Given the description of an element on the screen output the (x, y) to click on. 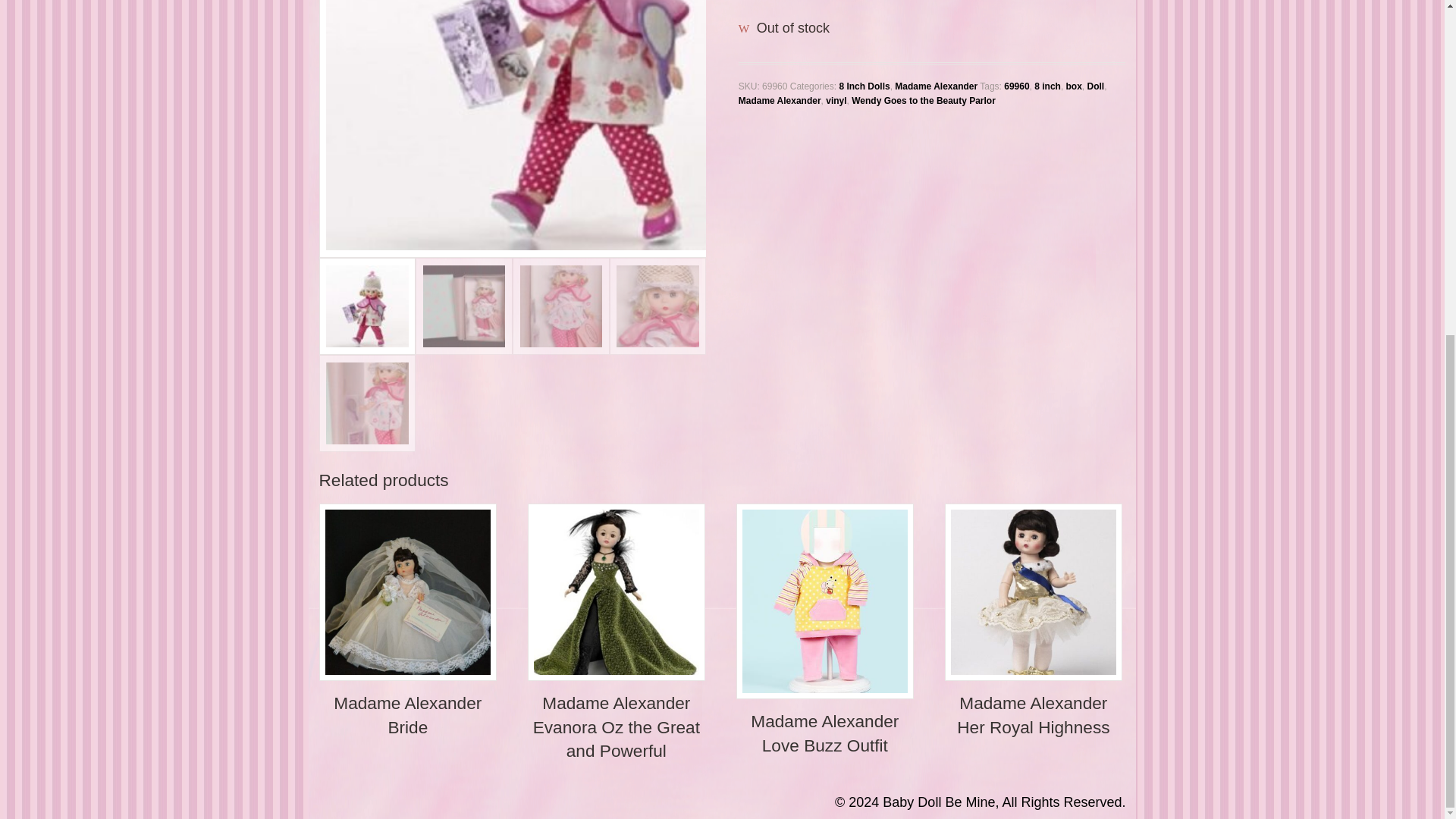
Madame Alexander (779, 100)
box (1073, 86)
Wendy Goes to the Beauty Parlor (923, 100)
8 inch (1047, 86)
8 Inch Dolls (863, 86)
vinyl (835, 100)
Doll (1096, 86)
69960 (1016, 86)
Madame Alexander (935, 86)
